Given the description of an element on the screen output the (x, y) to click on. 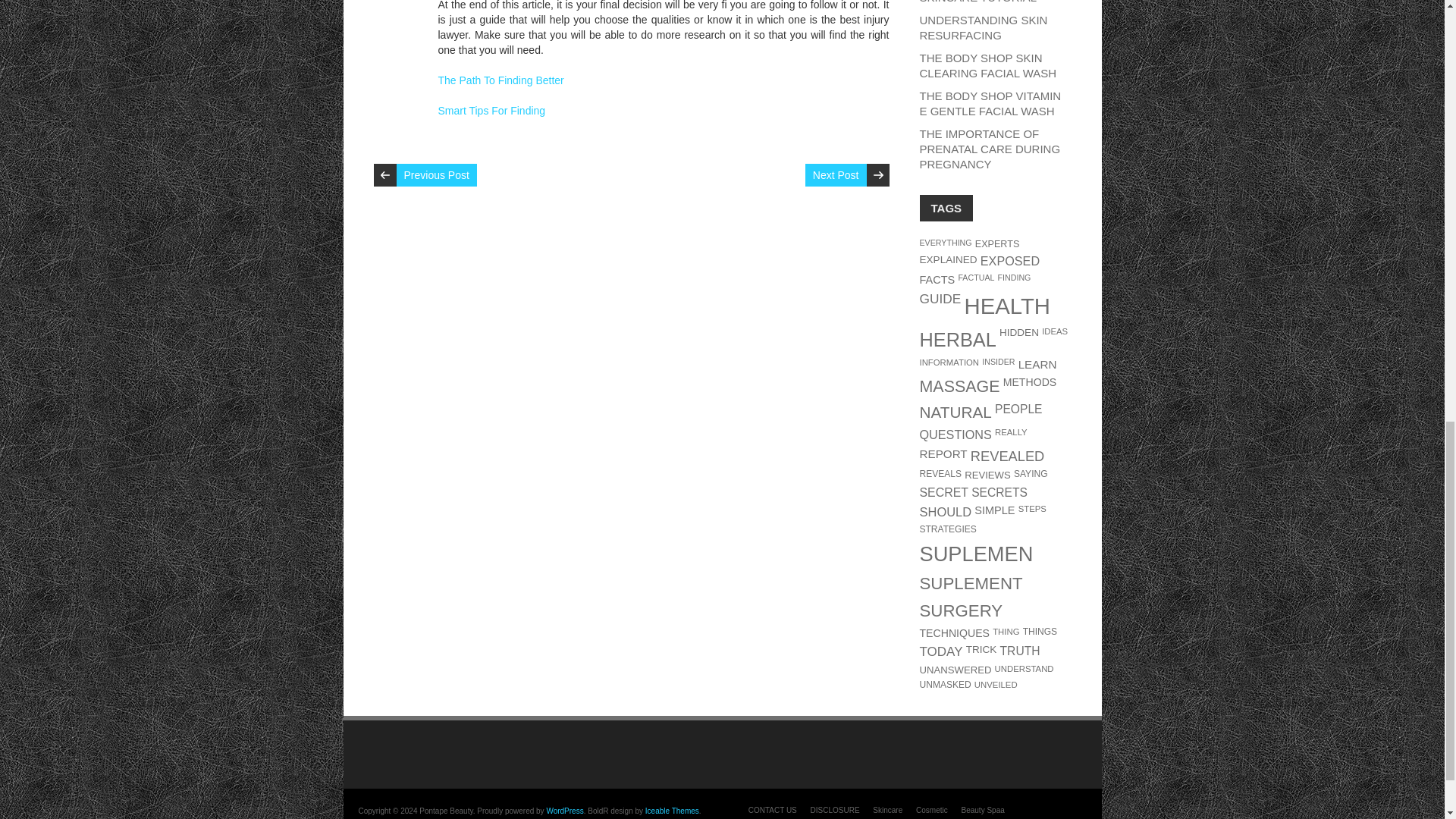
EXPLAINED (947, 259)
EXPERTS (997, 244)
UNDERSTANDING SKIN RESURFACING (982, 27)
Next Post (835, 174)
THE IMPORTANCE OF PRENATAL CARE DURING PREGNANCY (988, 148)
EVERYTHING (944, 242)
THE BODY SHOP SKIN CLEARING FACIAL WASH (987, 65)
THE BODY SHOP VITAMIN E GENTLE FACIAL WASH (989, 103)
REVITALIZE YOUR ROUTINE: REFRESHING SKINCARE TUTORIAL (984, 2)
Semantic Personal Publishing Platform (564, 810)
Previous Post (436, 174)
Free and Premium WordPress Themes (671, 810)
Smart Tips For Finding (492, 110)
EXPOSED (1009, 260)
The Path To Finding Better (501, 80)
